Given the description of an element on the screen output the (x, y) to click on. 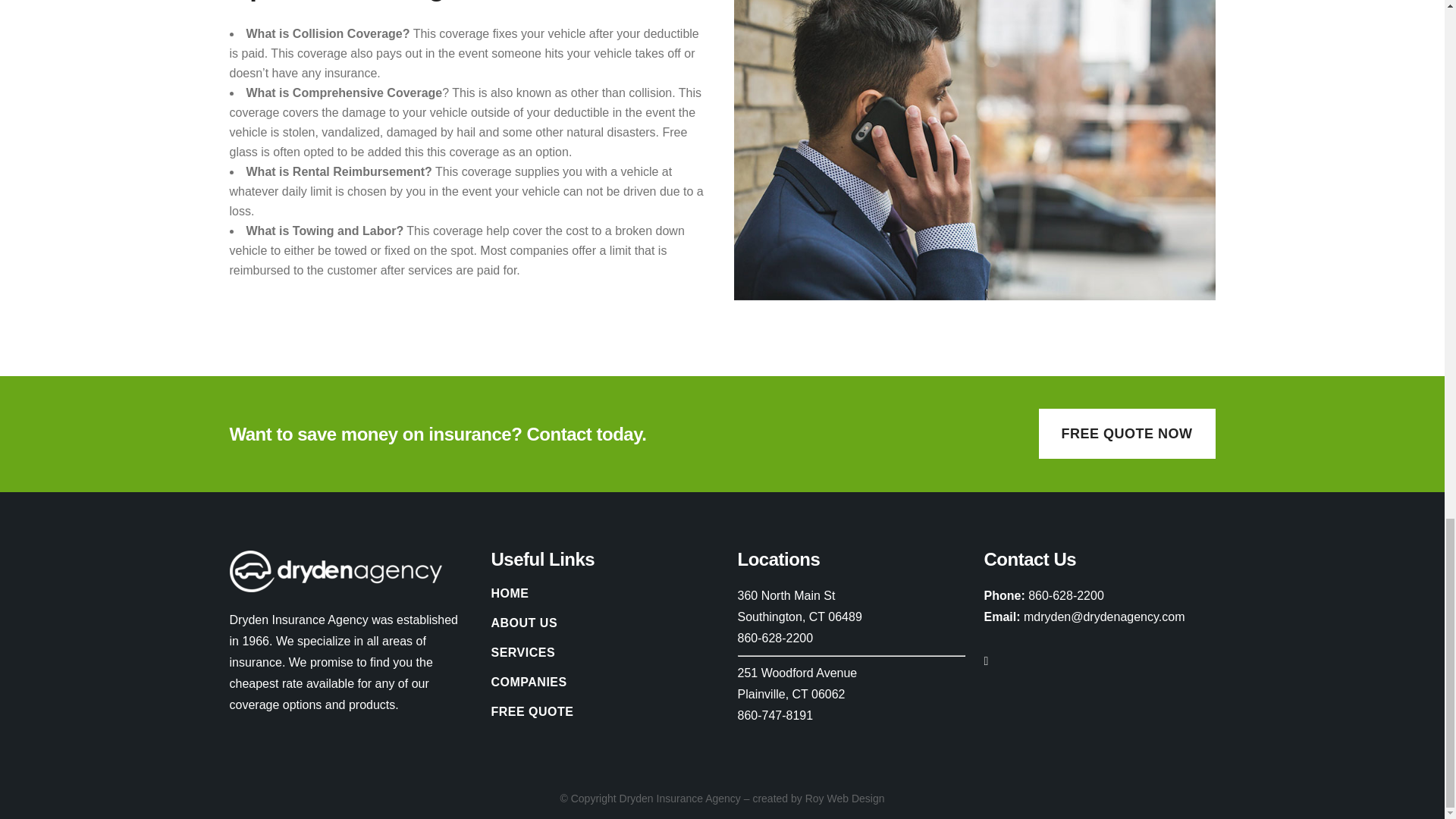
Roy Web Design (845, 798)
COMPANIES (603, 682)
FREE QUOTE (603, 711)
ABOUT US (603, 623)
FREE QUOTE NOW (1127, 433)
SERVICES (603, 652)
CT Web Design and Hosting (845, 798)
HOME (603, 593)
